Given the description of an element on the screen output the (x, y) to click on. 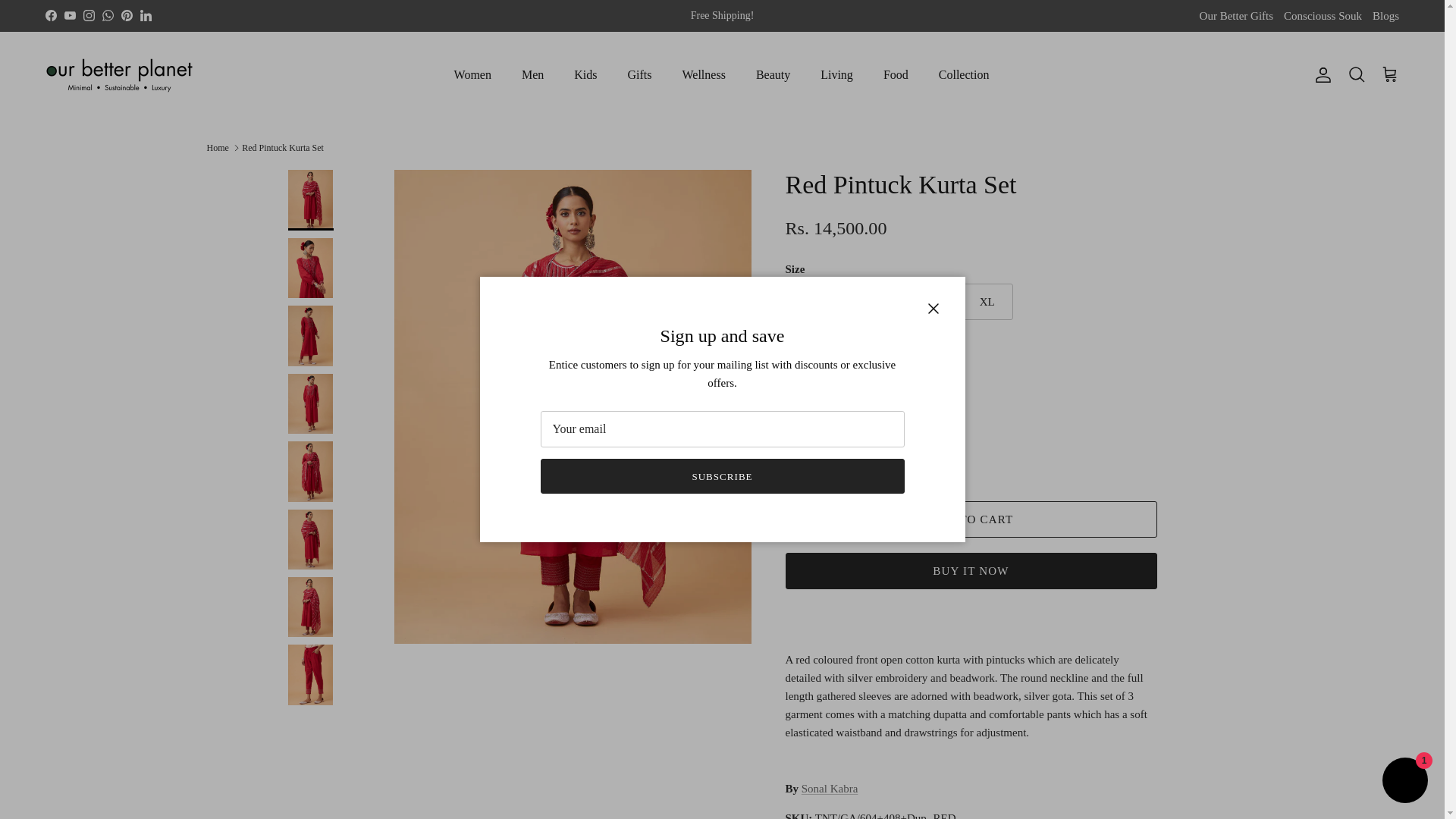
Our Better Planet on Facebook (50, 15)
Food (895, 74)
Collection (963, 74)
Consciouss Souk (1322, 15)
Pinterest (126, 15)
Facebook (50, 15)
Our Better Planet on LinkedIn (145, 15)
Our Better Gifts (1235, 15)
Instagram (88, 15)
Wellness (703, 74)
Living (836, 74)
Women (473, 74)
WhatsApp (107, 15)
Beauty (772, 74)
Our Better Planet (119, 75)
